Given the description of an element on the screen output the (x, y) to click on. 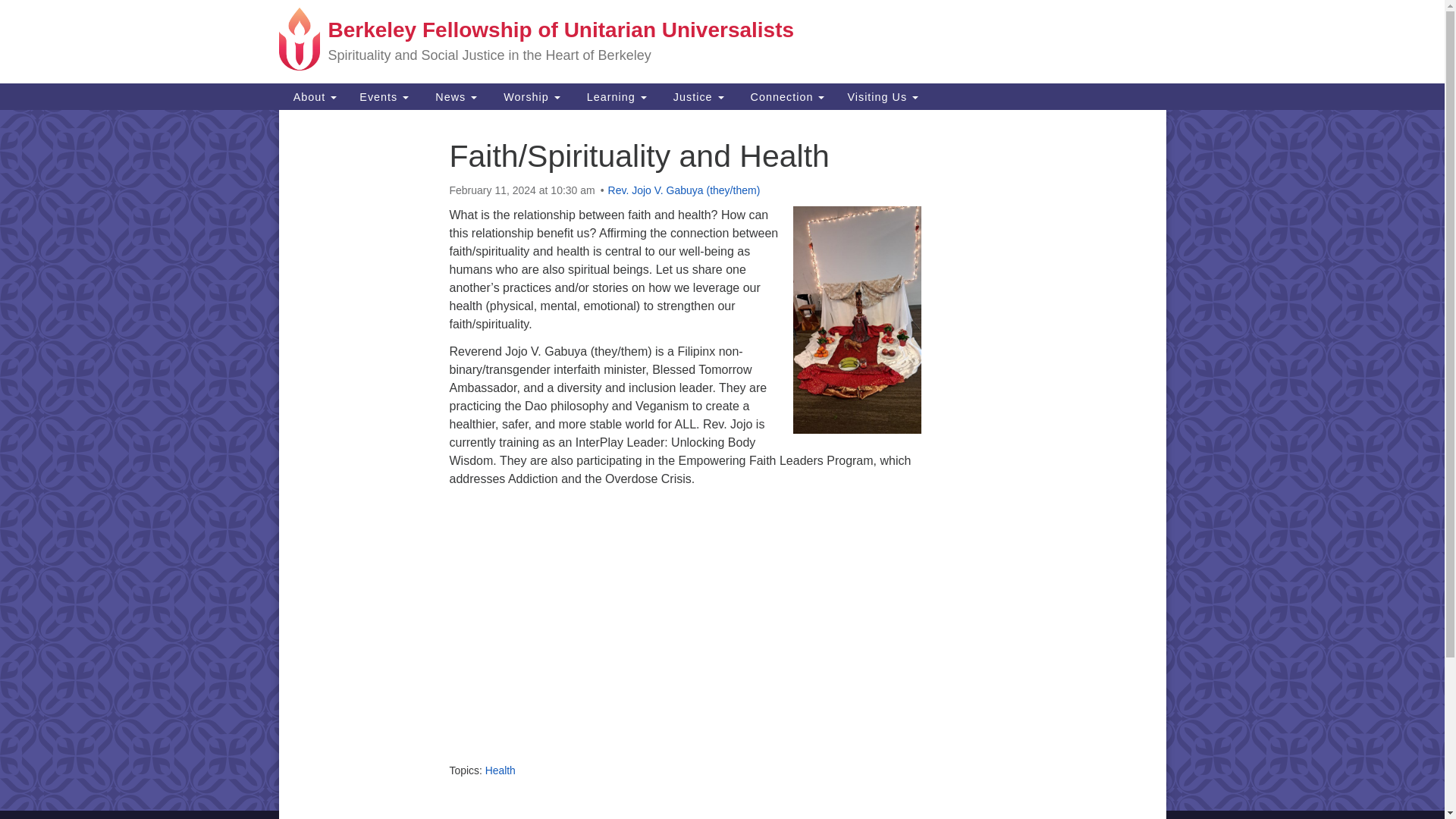
Events (383, 96)
About (314, 96)
 News (453, 96)
 Connection (785, 96)
 Learning (615, 96)
 Worship (529, 96)
 About (314, 96)
 Justice (696, 96)
